Given the description of an element on the screen output the (x, y) to click on. 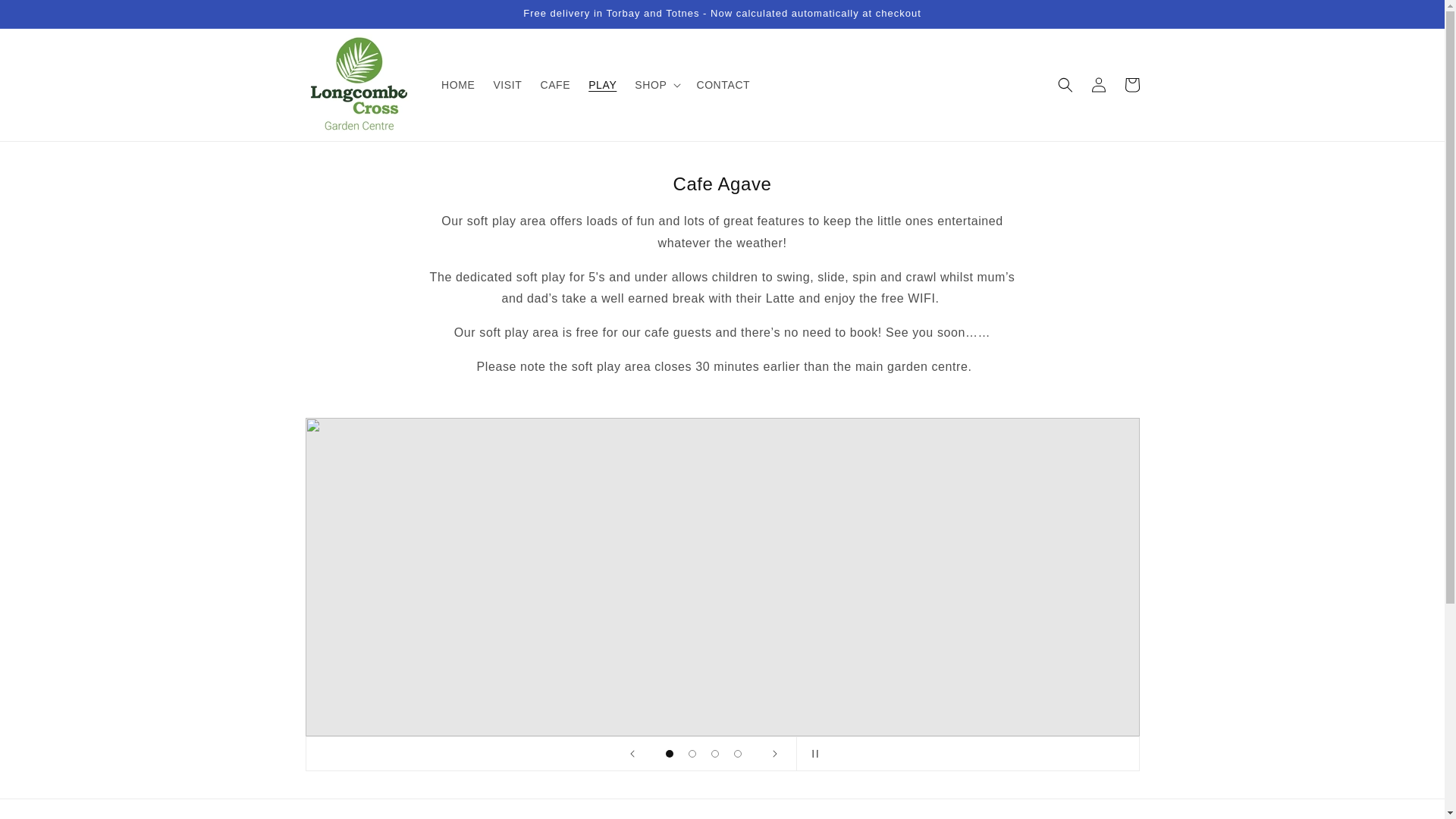
VISIT (507, 84)
PLAY (602, 84)
HOME (457, 84)
CONTACT (722, 84)
Skip to content (45, 17)
CAFE (555, 84)
Log in (1098, 84)
